Given the description of an element on the screen output the (x, y) to click on. 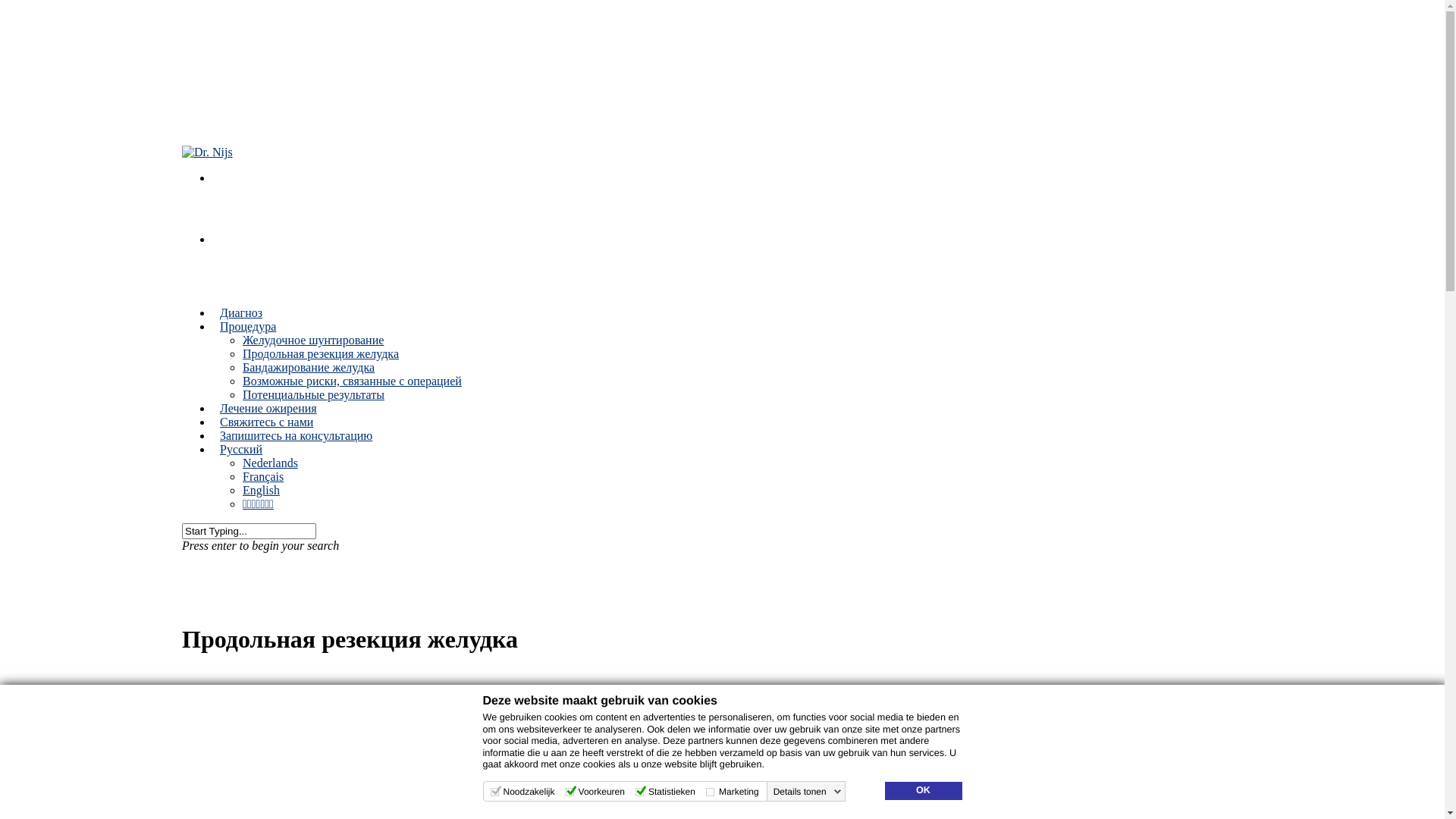
OK Element type: text (922, 790)
Nederlands Element type: text (270, 462)
English Element type: text (260, 489)
Details tonen Element type: text (807, 791)
